Given the description of an element on the screen output the (x, y) to click on. 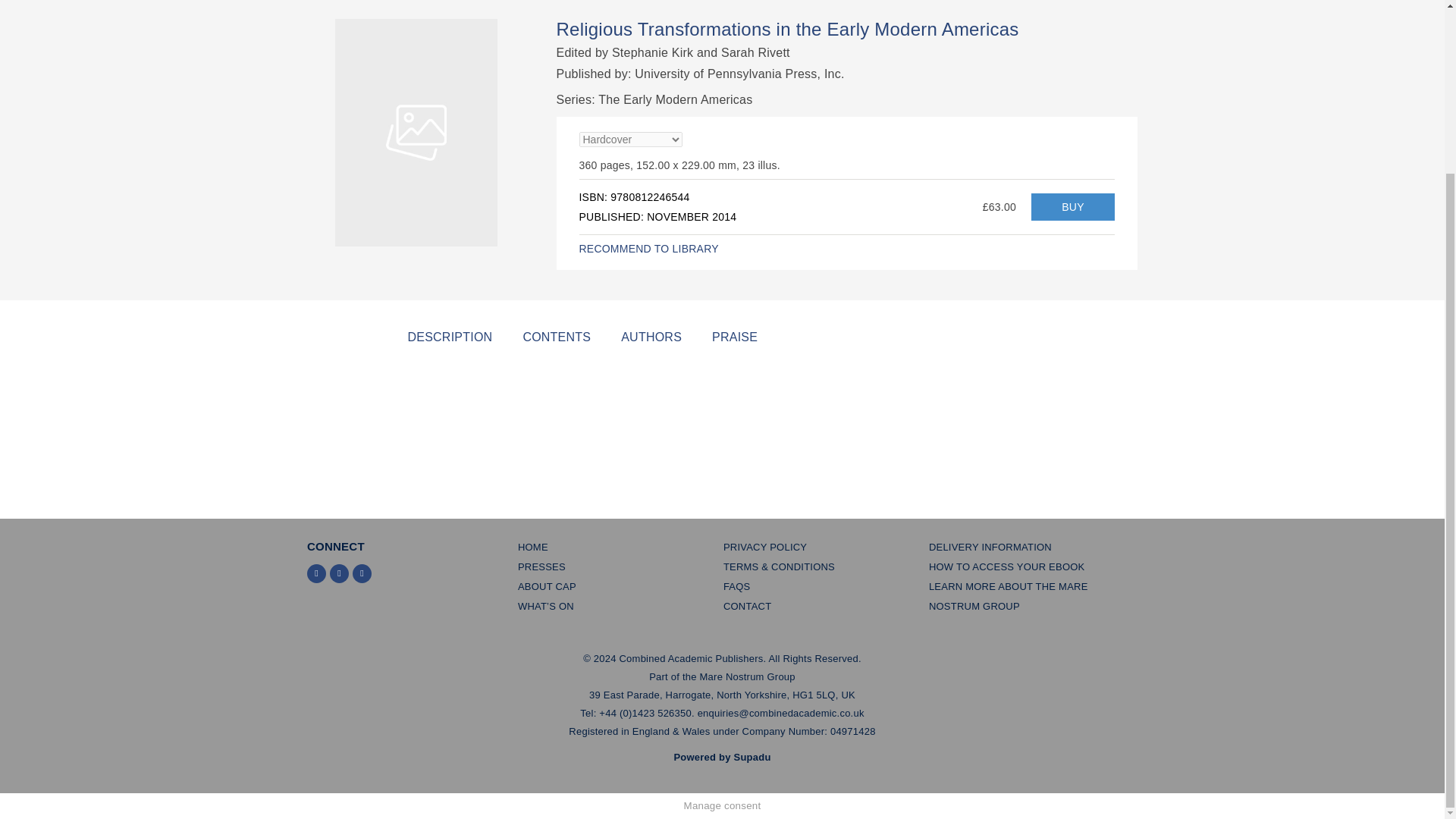
Follow us on Instagram (361, 573)
Follow us on Facebook (339, 573)
Religious Transformations in the Early Modern Americas (1072, 206)
Recommend to Library (649, 248)
